Given the description of an element on the screen output the (x, y) to click on. 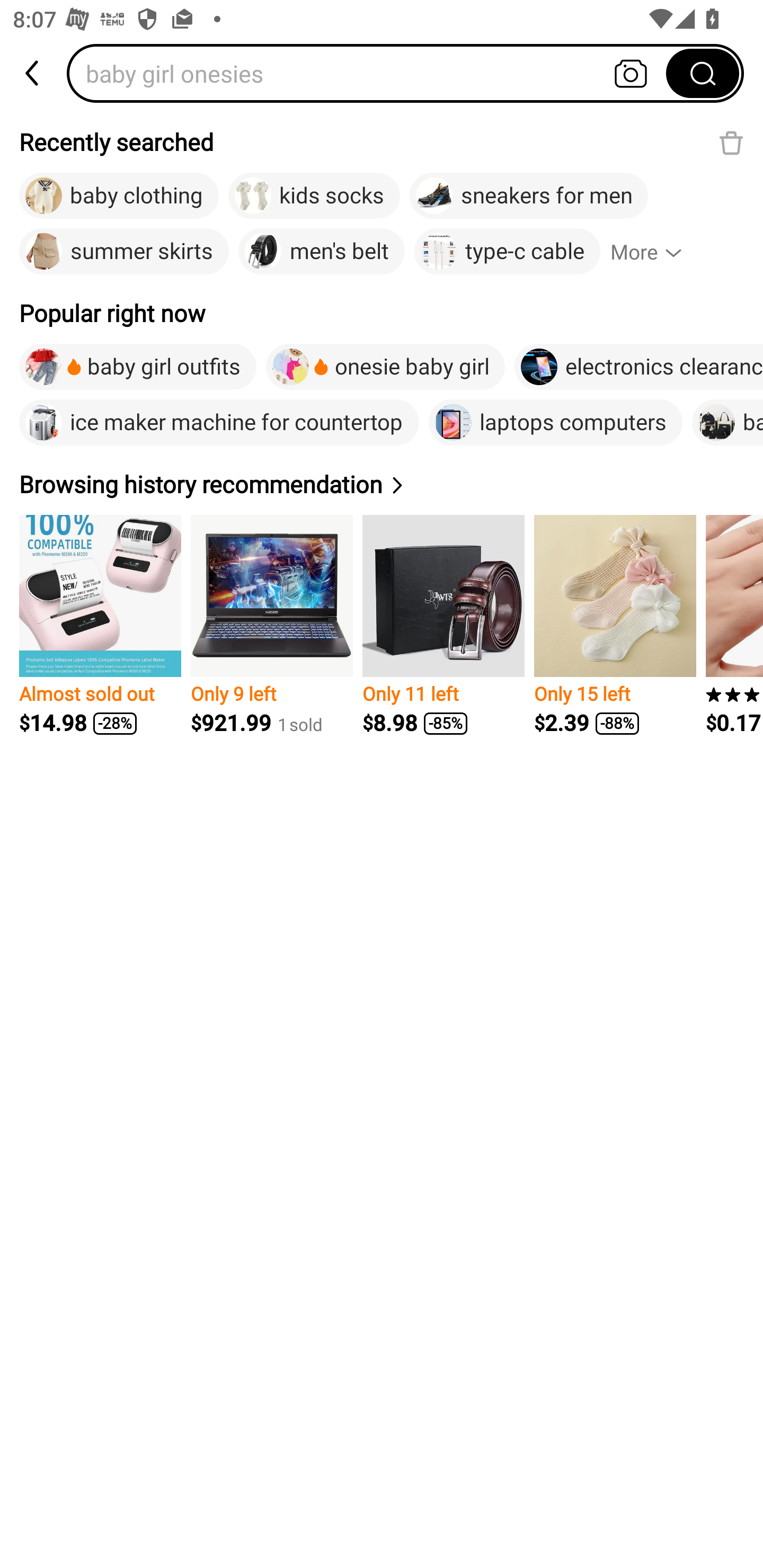
back (33, 72)
baby girl onesies (372, 73)
Search by photo (630, 73)
Delete recent search (731, 142)
baby clothing (118, 195)
kids socks (313, 195)
sneakers for men (528, 195)
summer skirts (123, 251)
men's belt (321, 251)
type-c cable (507, 251)
More (653, 251)
baby girl outfits (137, 366)
onesie baby girl (385, 366)
electronics clearance (638, 366)
ice maker machine for countertop (218, 422)
laptops computers (555, 422)
bags for women (727, 422)
Browsing history recommendation (213, 484)
Almost sold out $14.98 -28% (100, 625)
Only 9 left $921.99 1￼sold (271, 625)
Only 11 left $8.98 -85% (443, 625)
Only 15 left $2.39 -88% (614, 625)
